Given the description of an element on the screen output the (x, y) to click on. 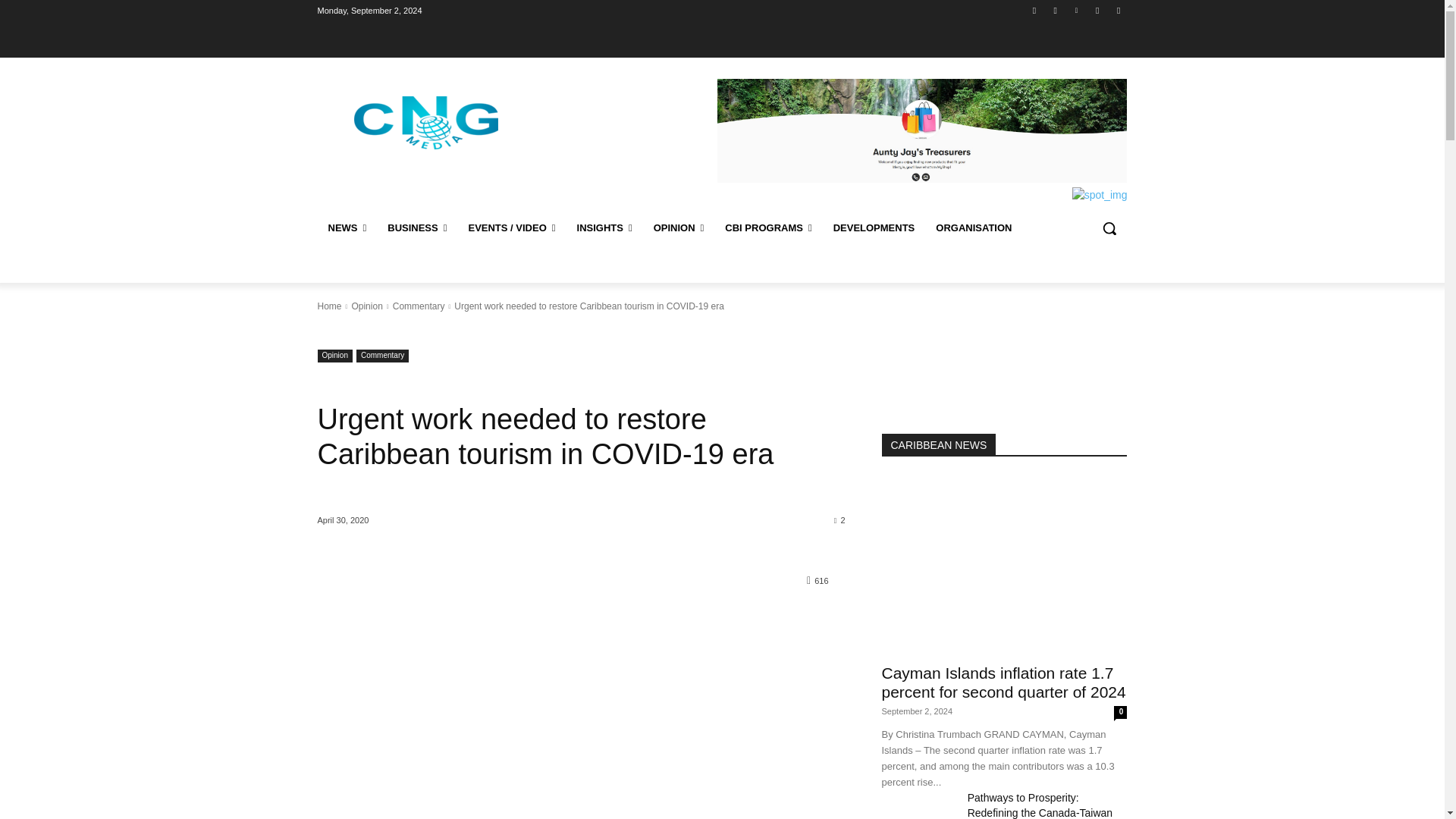
Twitter (1097, 9)
Linkedin (1075, 9)
NEWS (347, 227)
Facebook (1034, 9)
Instagram (1055, 9)
Youtube (1117, 9)
